Given the description of an element on the screen output the (x, y) to click on. 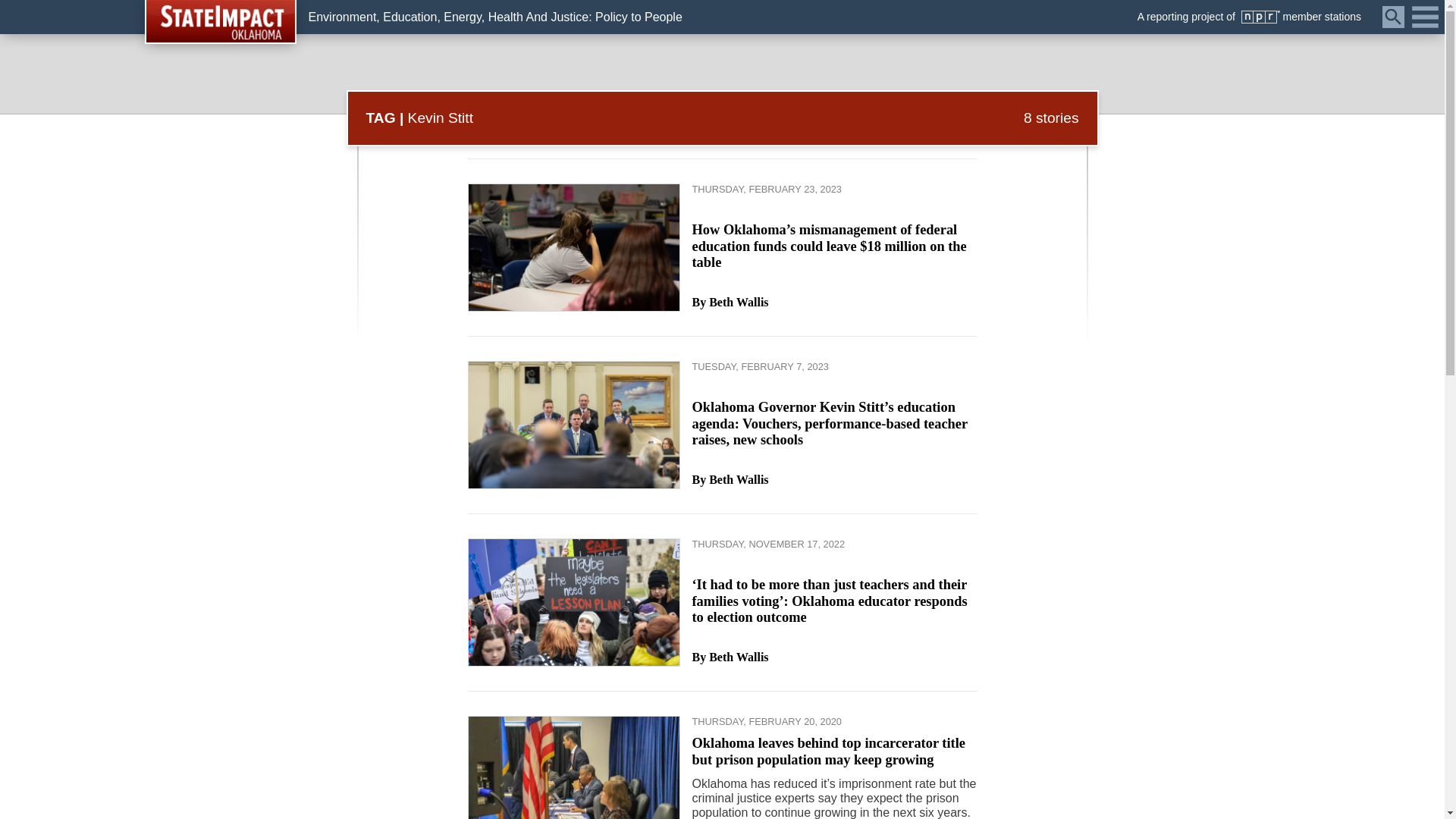
Posts by Beth Wallis (738, 302)
Posts by Beth Wallis (738, 480)
Beth Wallis (738, 480)
Beth Wallis (738, 302)
Posts by Beth Wallis (738, 657)
NPR (1260, 16)
Beth Wallis (738, 657)
Visit npr.org (1260, 16)
